Given the description of an element on the screen output the (x, y) to click on. 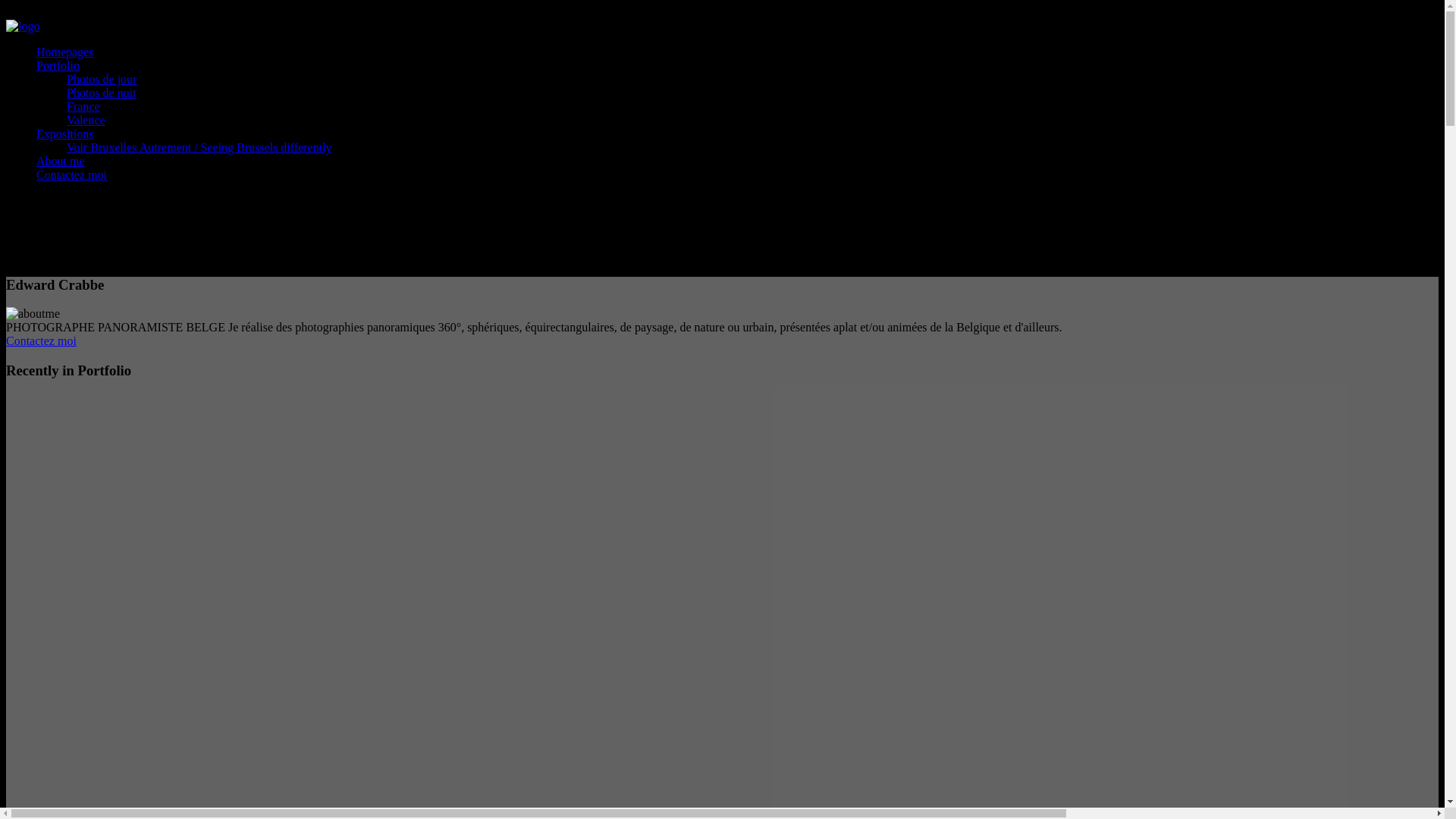
Contactez moi Element type: text (71, 174)
Homepages Element type: text (65, 51)
Expositions Element type: text (65, 133)
Photos de jour Element type: text (101, 78)
Portfolio Element type: text (57, 65)
Photos de nuit Element type: text (101, 92)
Voir Bruxelles Autrement / Seeing Brussels differently Element type: text (199, 147)
About me Element type: text (60, 160)
France Element type: text (83, 106)
Valence Element type: text (85, 119)
Contactez moi Element type: text (722, 341)
